Given the description of an element on the screen output the (x, y) to click on. 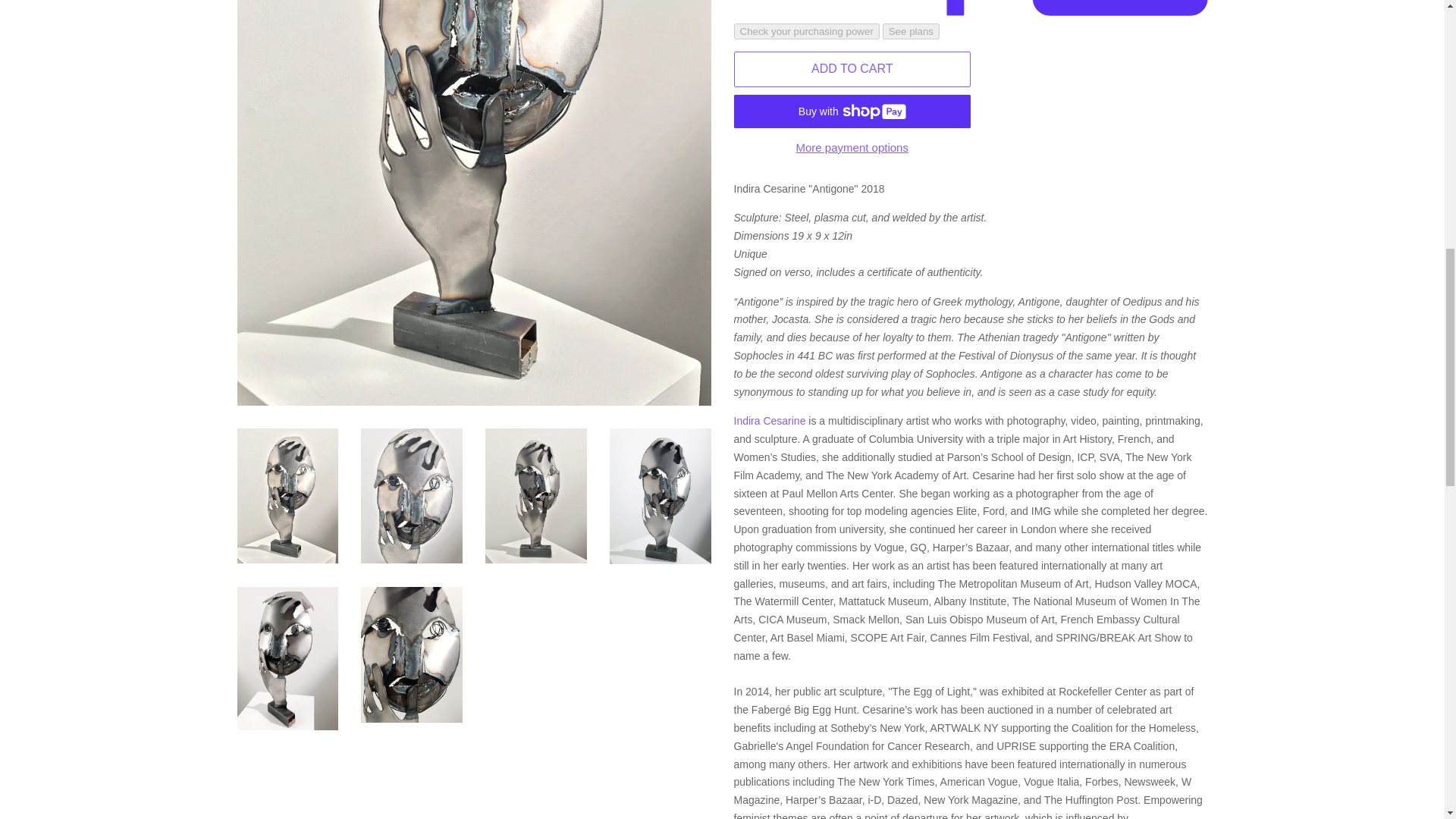
Indira Cesarine (769, 420)
More payment options (852, 146)
ADD TO CART (852, 68)
